Given the description of an element on the screen output the (x, y) to click on. 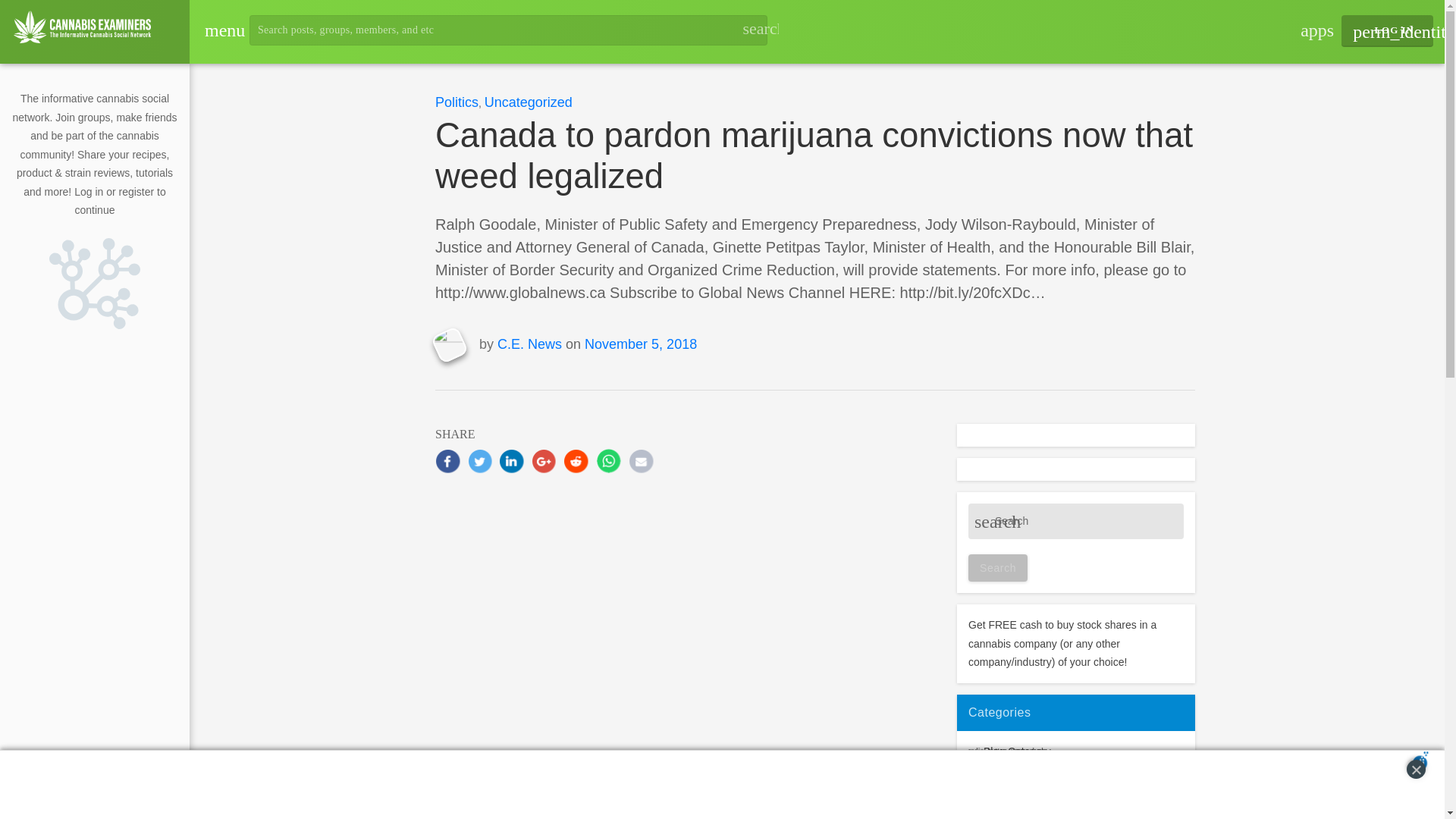
Share on Reddit (576, 461)
WhatsApp (608, 461)
C.E. News (529, 344)
Search (997, 567)
Share on LinkedIn (511, 461)
menu (213, 30)
Share on Twitter (479, 461)
Uncategorized (528, 102)
November 5, 2018 (641, 344)
